Given the description of an element on the screen output the (x, y) to click on. 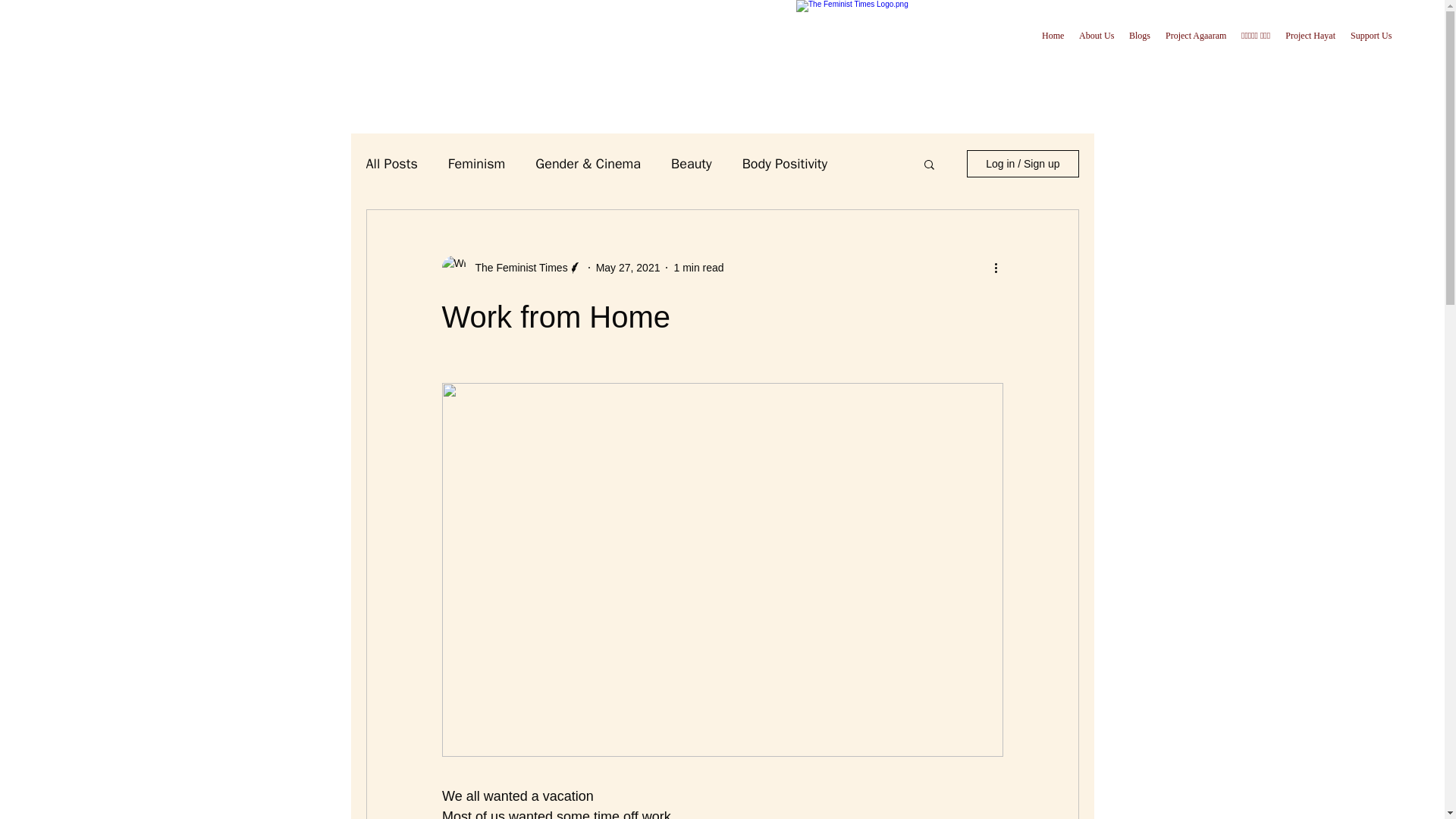
Project Agaaram (1195, 35)
Blogs (1139, 35)
Body Positivity (785, 163)
Feminism (476, 163)
Home (1052, 35)
All Posts (390, 163)
Support Us (1370, 35)
Beauty (691, 163)
1 min read (697, 266)
Project Hayat (1310, 35)
